Given the description of an element on the screen output the (x, y) to click on. 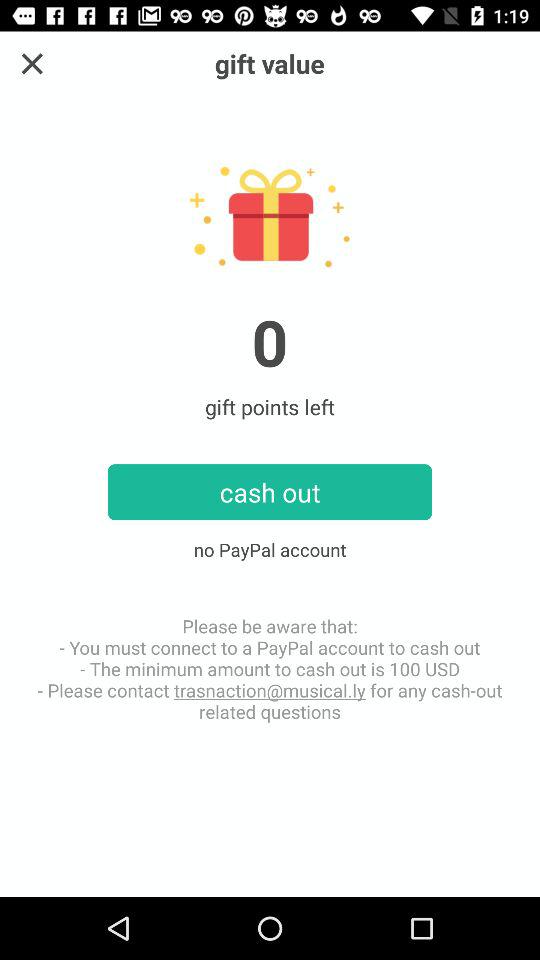
tap icon above the no paypal account icon (32, 63)
